Given the description of an element on the screen output the (x, y) to click on. 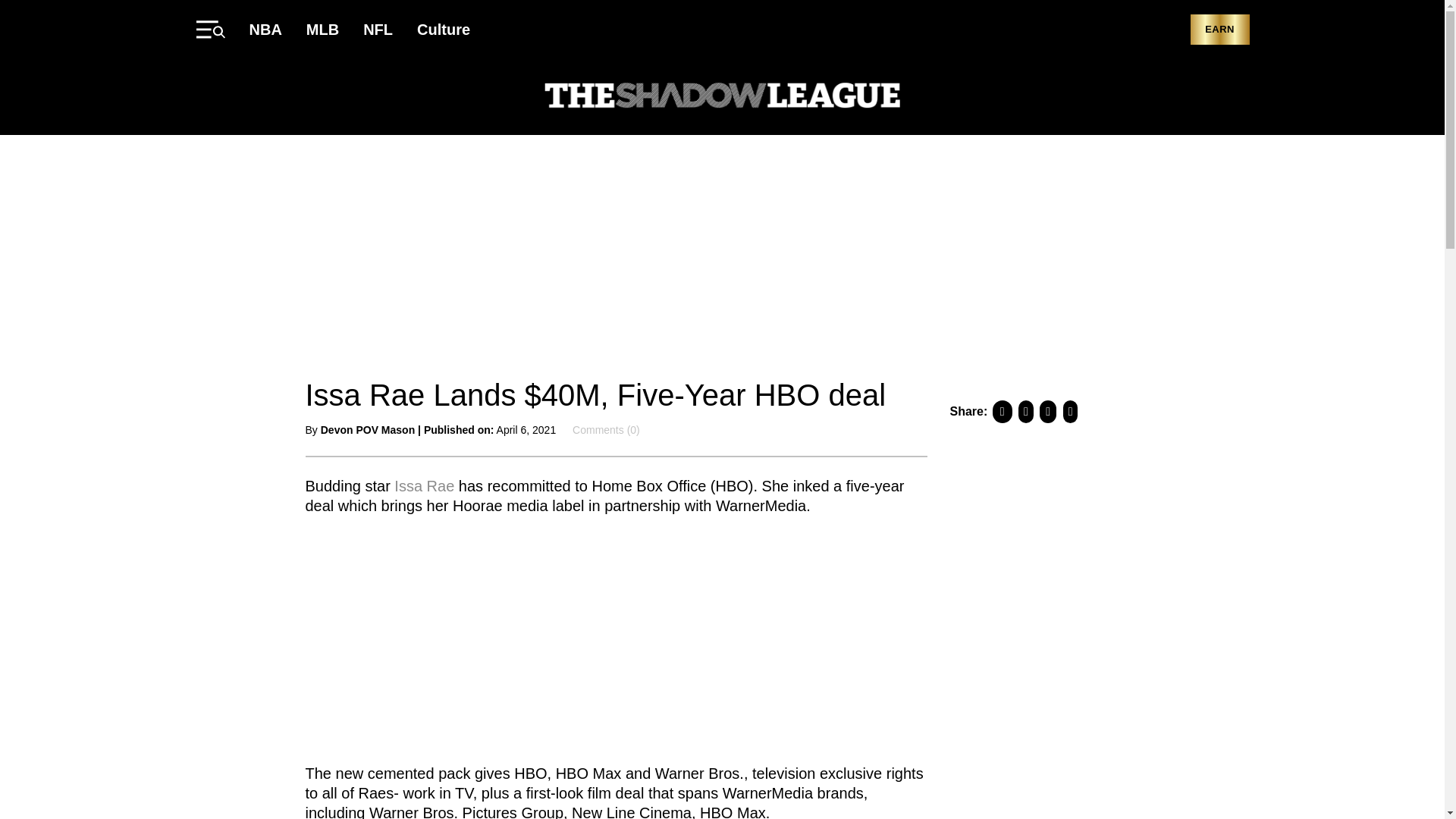
EARN (1220, 29)
NFL (377, 29)
Culture (443, 29)
The Shadow League (721, 96)
Devon POV Mason (367, 429)
Issa Rae (422, 485)
MLB (322, 29)
NBA (264, 29)
